Given the description of an element on the screen output the (x, y) to click on. 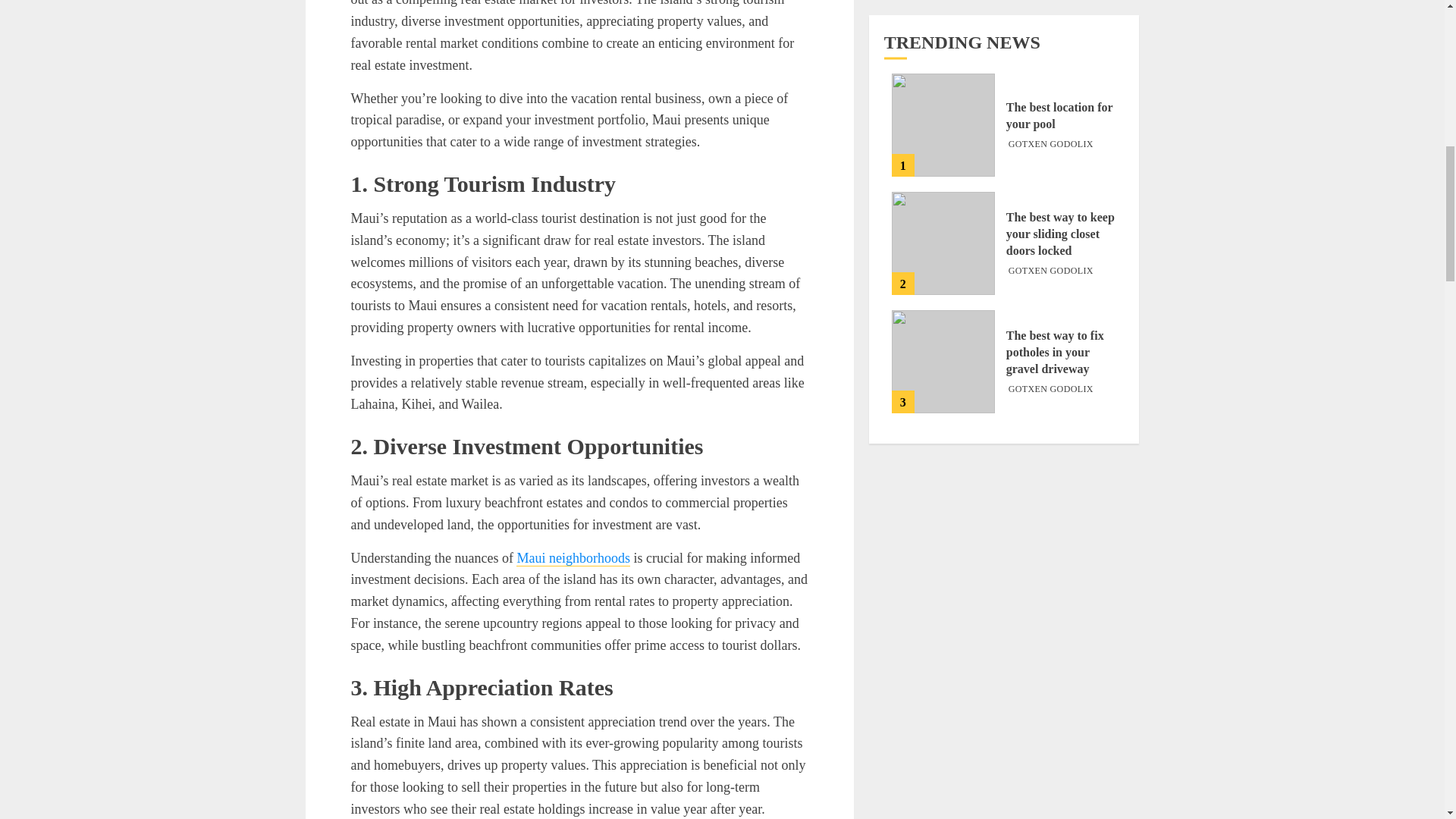
Maui neighborhoods (572, 558)
